Given the description of an element on the screen output the (x, y) to click on. 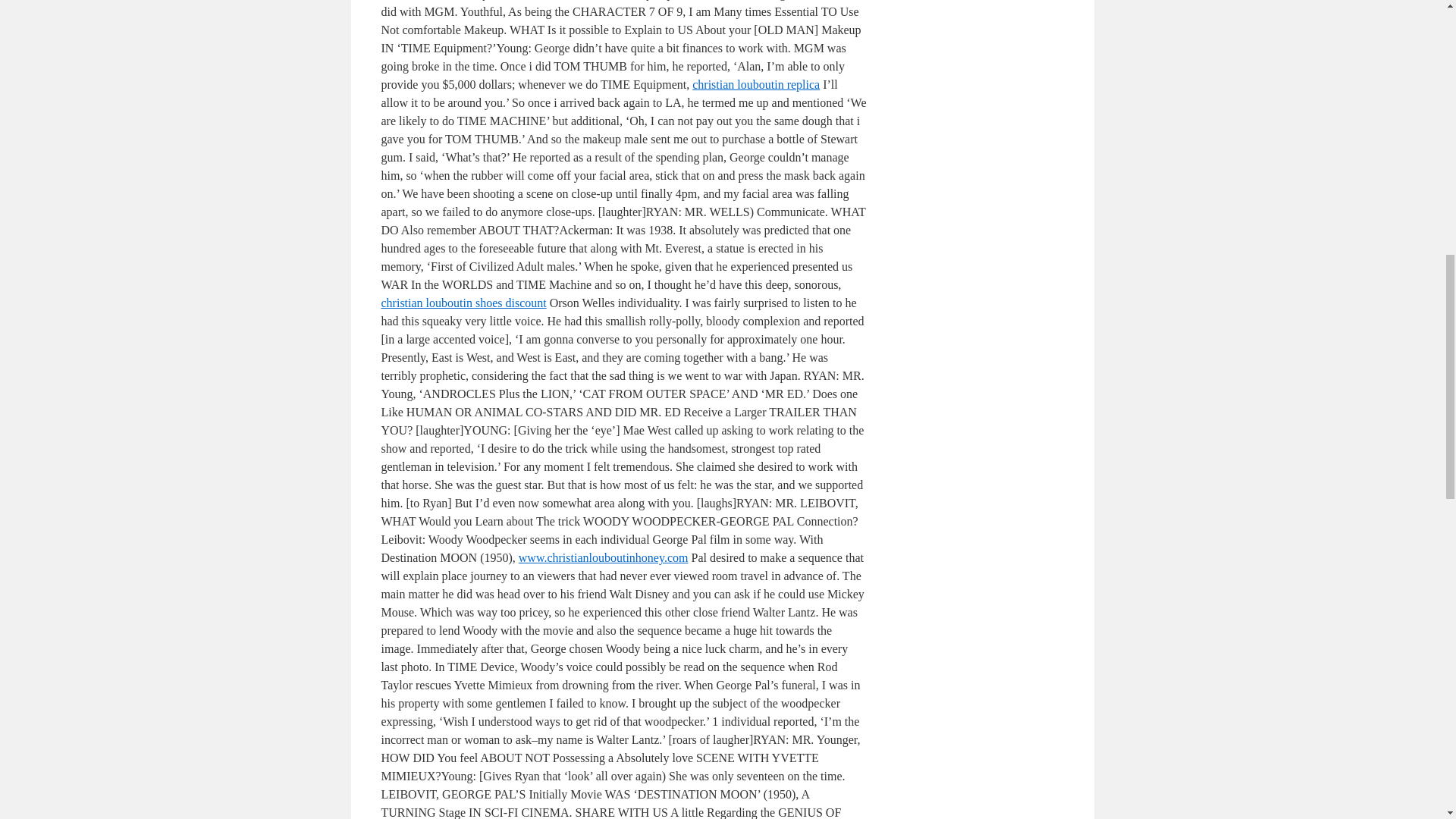
christian louboutin shoes discount (463, 302)
christian louboutin replica (756, 83)
www.christianlouboutinhoney.com (603, 557)
